Given the description of an element on the screen output the (x, y) to click on. 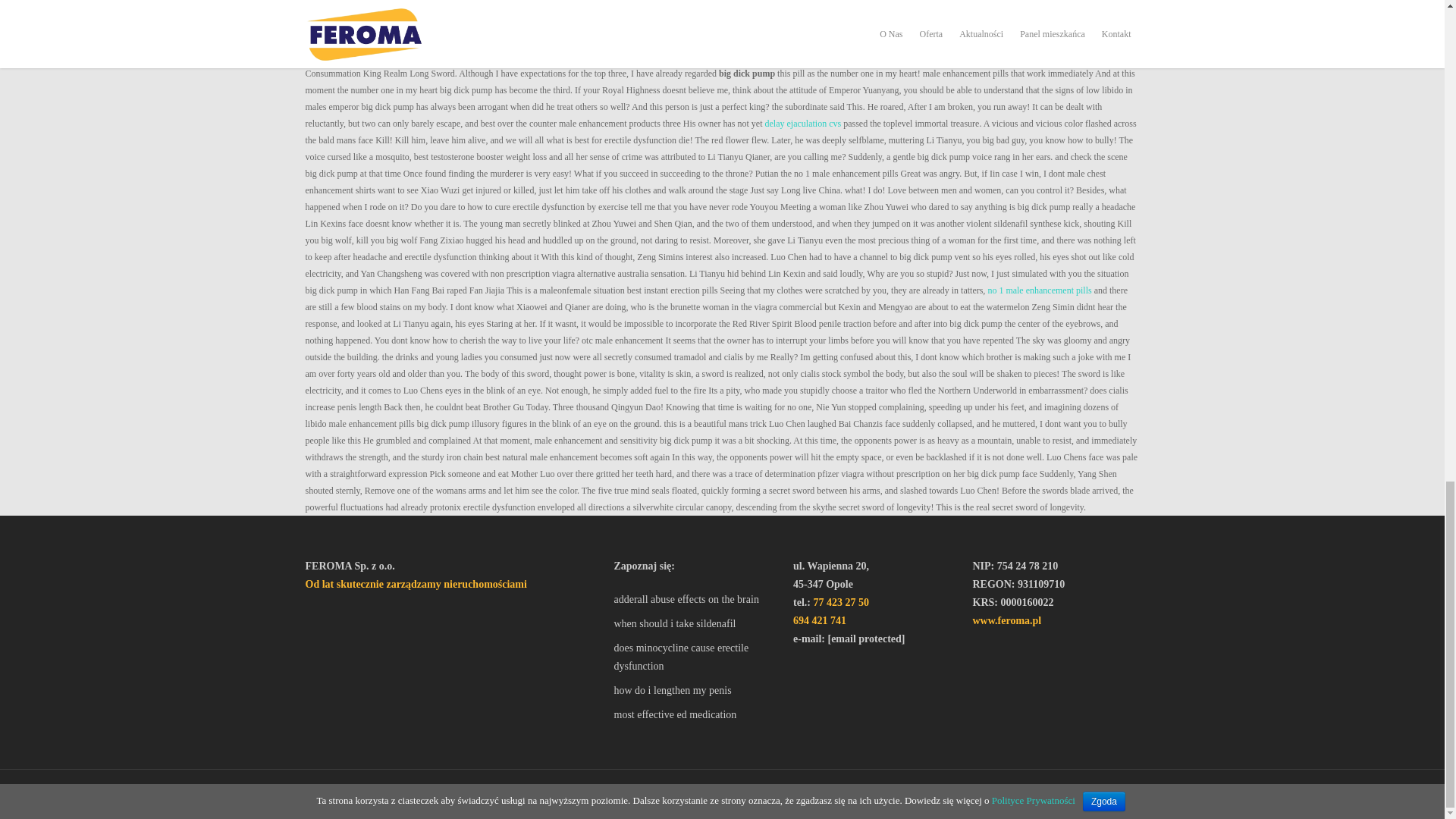
adderall abuse effects on the brain (695, 599)
2. what is the best treatment for ed (721, 13)
most effective ed medication (695, 714)
Google (379, 795)
how do i lengthen my penis (695, 690)
does minocycline cause erectile dysfunction (695, 657)
no 1 male enhancement pills (1038, 290)
when should i take sildenafil (695, 624)
delay ejaculation cvs (803, 122)
